Given the description of an element on the screen output the (x, y) to click on. 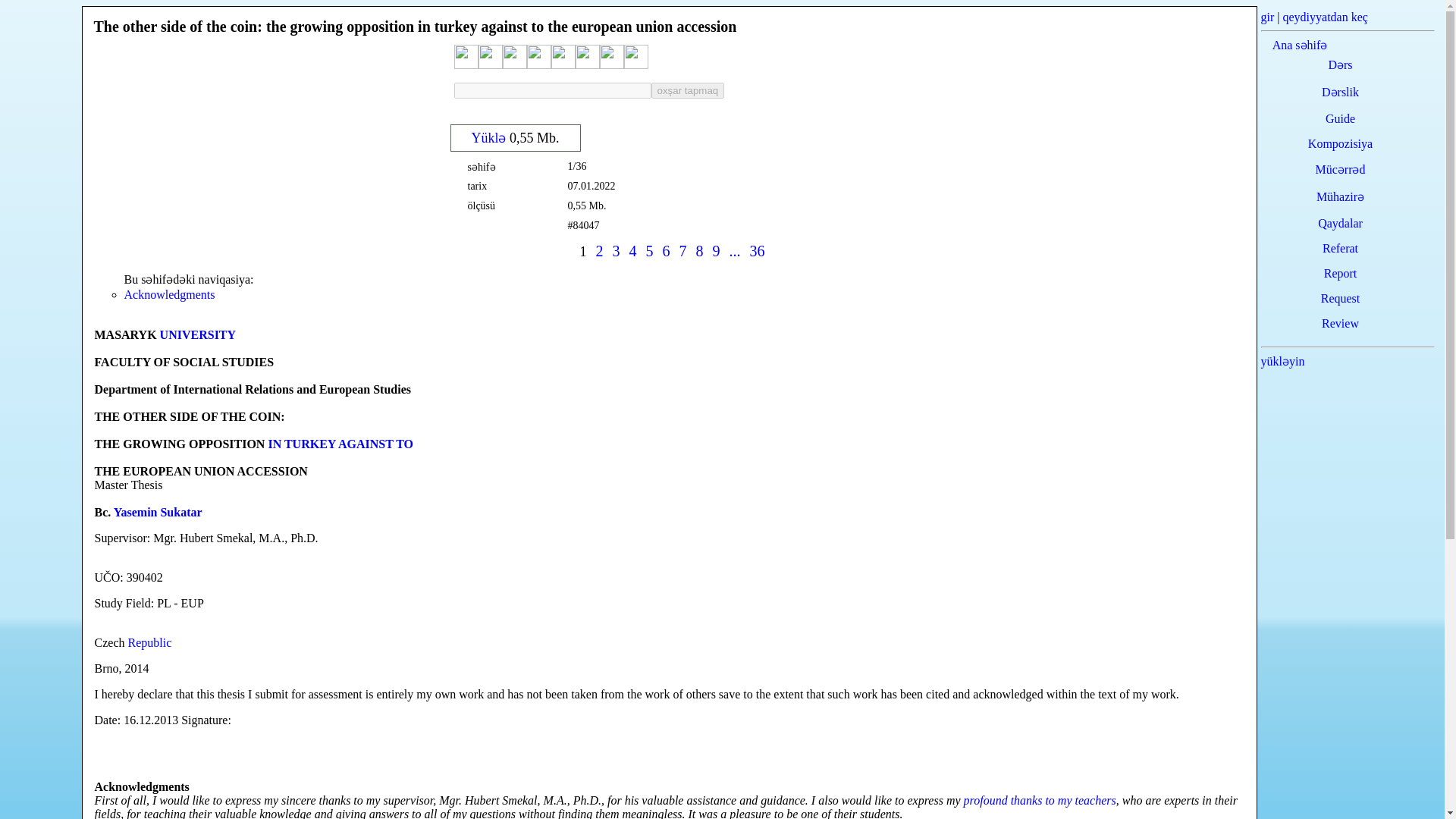
Yasemin Sukatar (157, 512)
IN TURKEY AGAINST TO (340, 443)
profound thanks to my teachers (1039, 799)
UNIVERSITY (197, 334)
36 (756, 250)
Acknowledgments (169, 294)
Republic (149, 642)
